Given the description of an element on the screen output the (x, y) to click on. 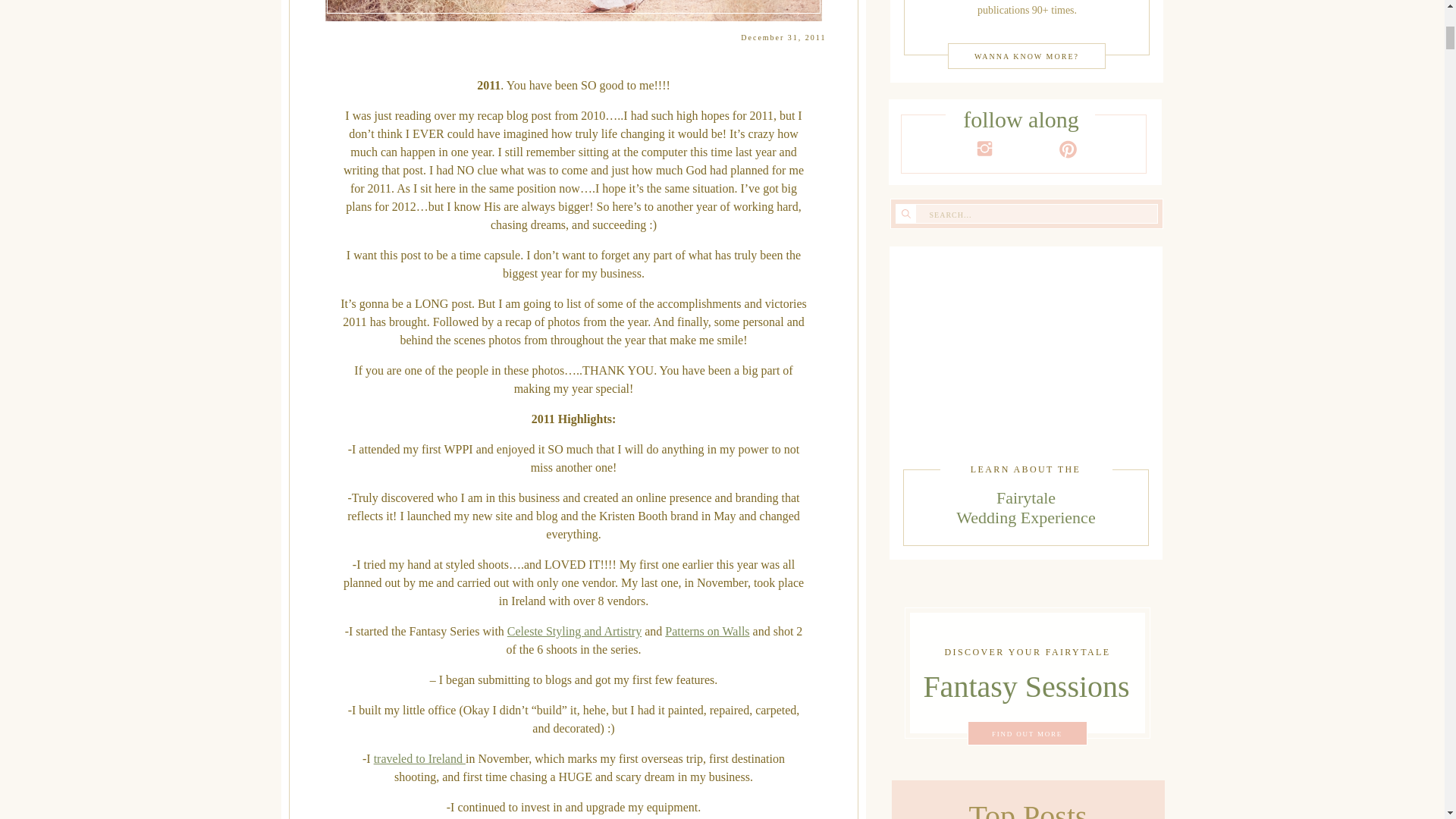
Celeste Styling and Artistry (574, 631)
FIND OUT MORE (1025, 508)
WANNA KNOW MORE? (419, 758)
